Given the description of an element on the screen output the (x, y) to click on. 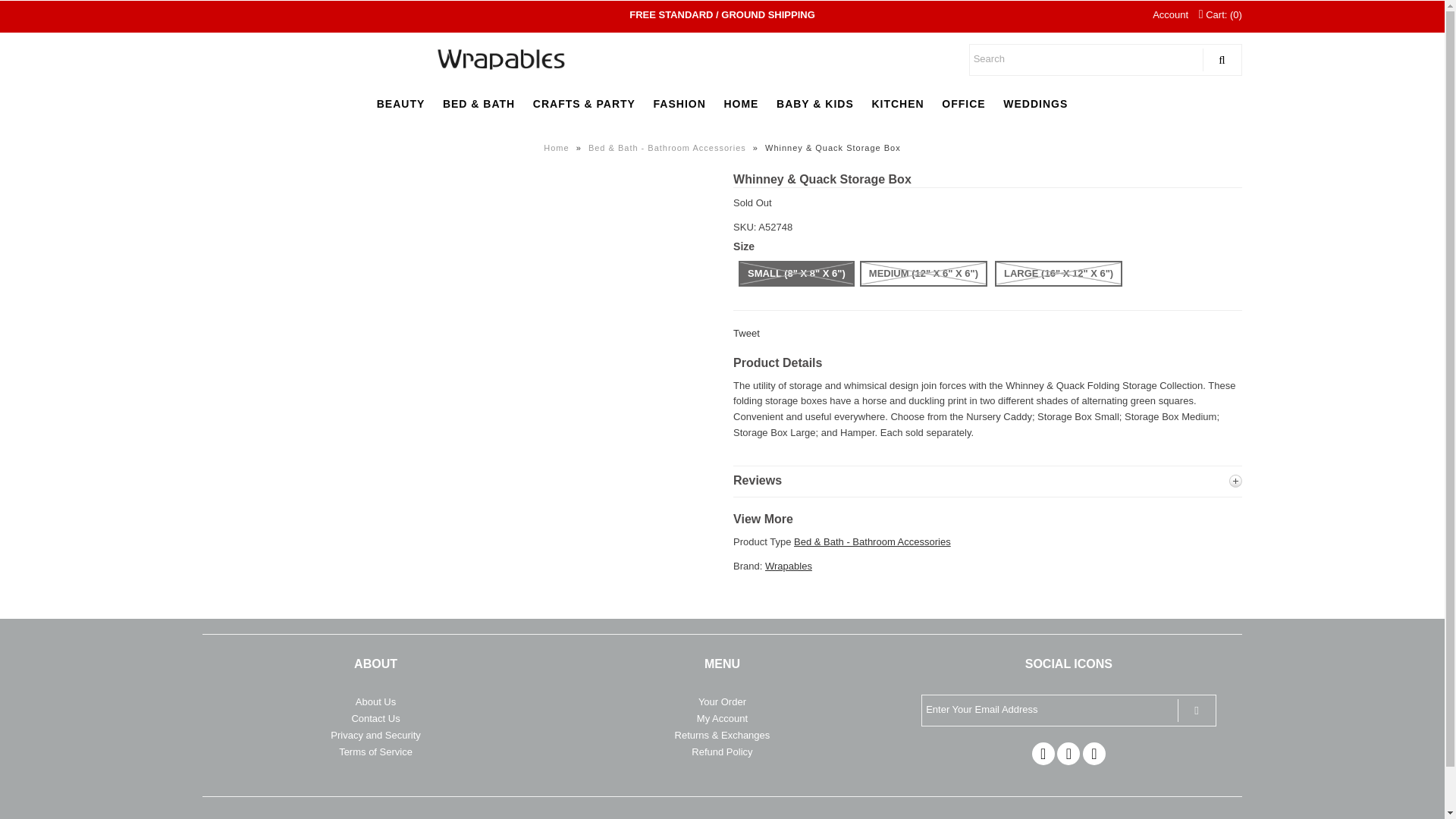
Wrapables (788, 566)
Home (557, 147)
